Given the description of an element on the screen output the (x, y) to click on. 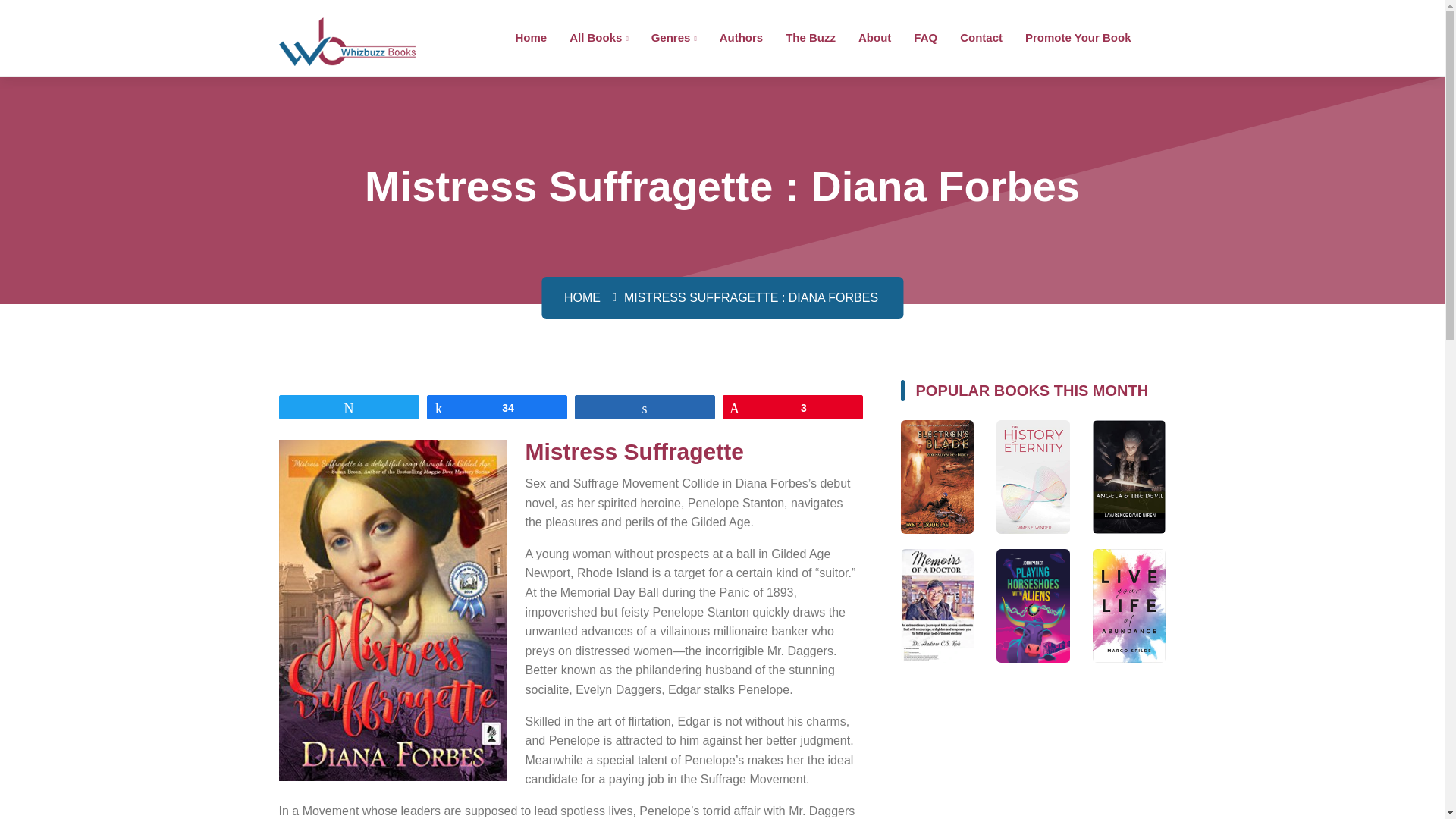
Home (530, 37)
Genres (673, 37)
Authors (740, 37)
All Books (598, 37)
